Given the description of an element on the screen output the (x, y) to click on. 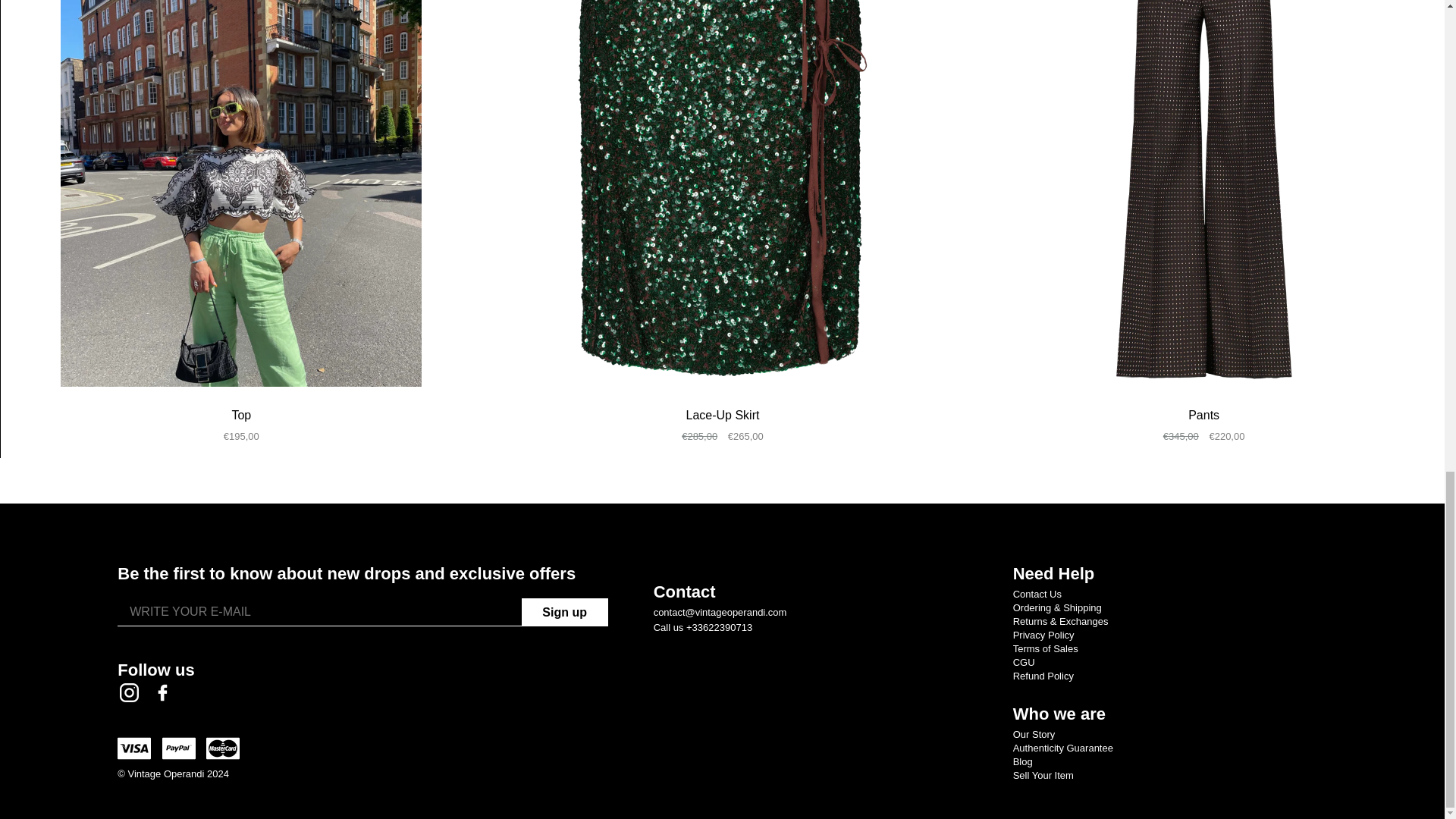
Sign up (564, 612)
